Given the description of an element on the screen output the (x, y) to click on. 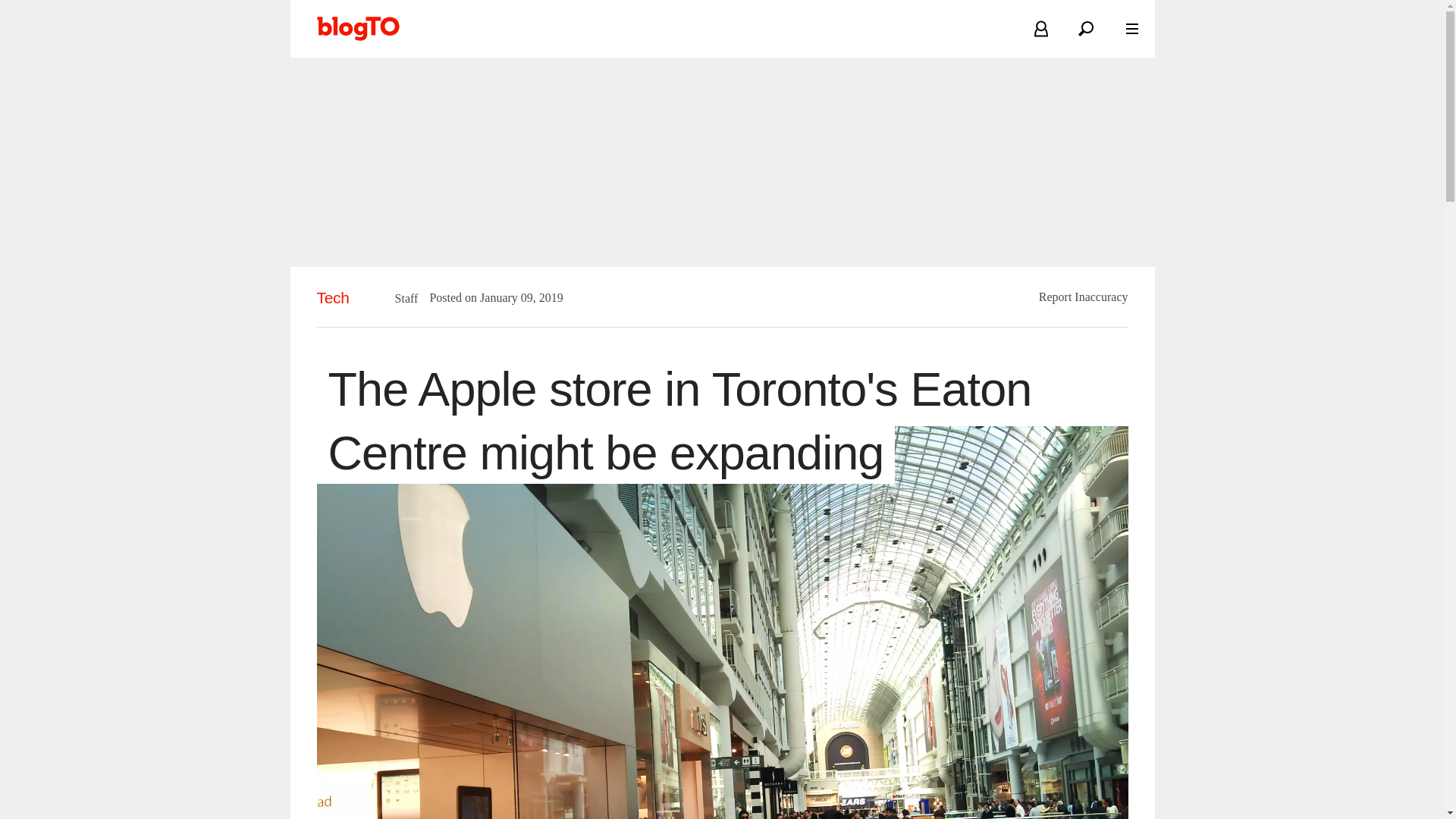
2019-01-09T15:25:54 (513, 297)
